Given the description of an element on the screen output the (x, y) to click on. 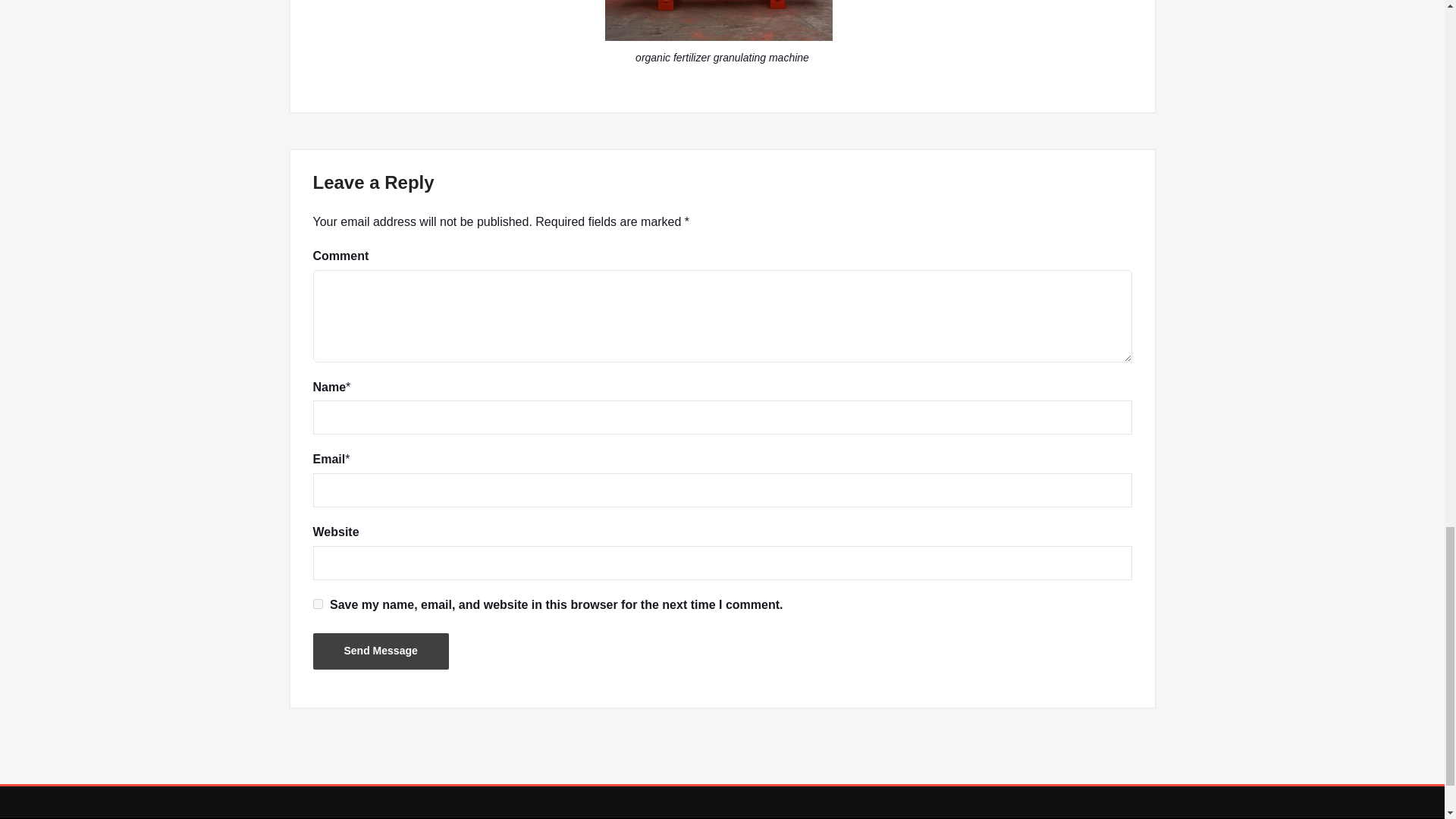
Send Message (380, 651)
yes (317, 603)
Send Message (380, 651)
